Given the description of an element on the screen output the (x, y) to click on. 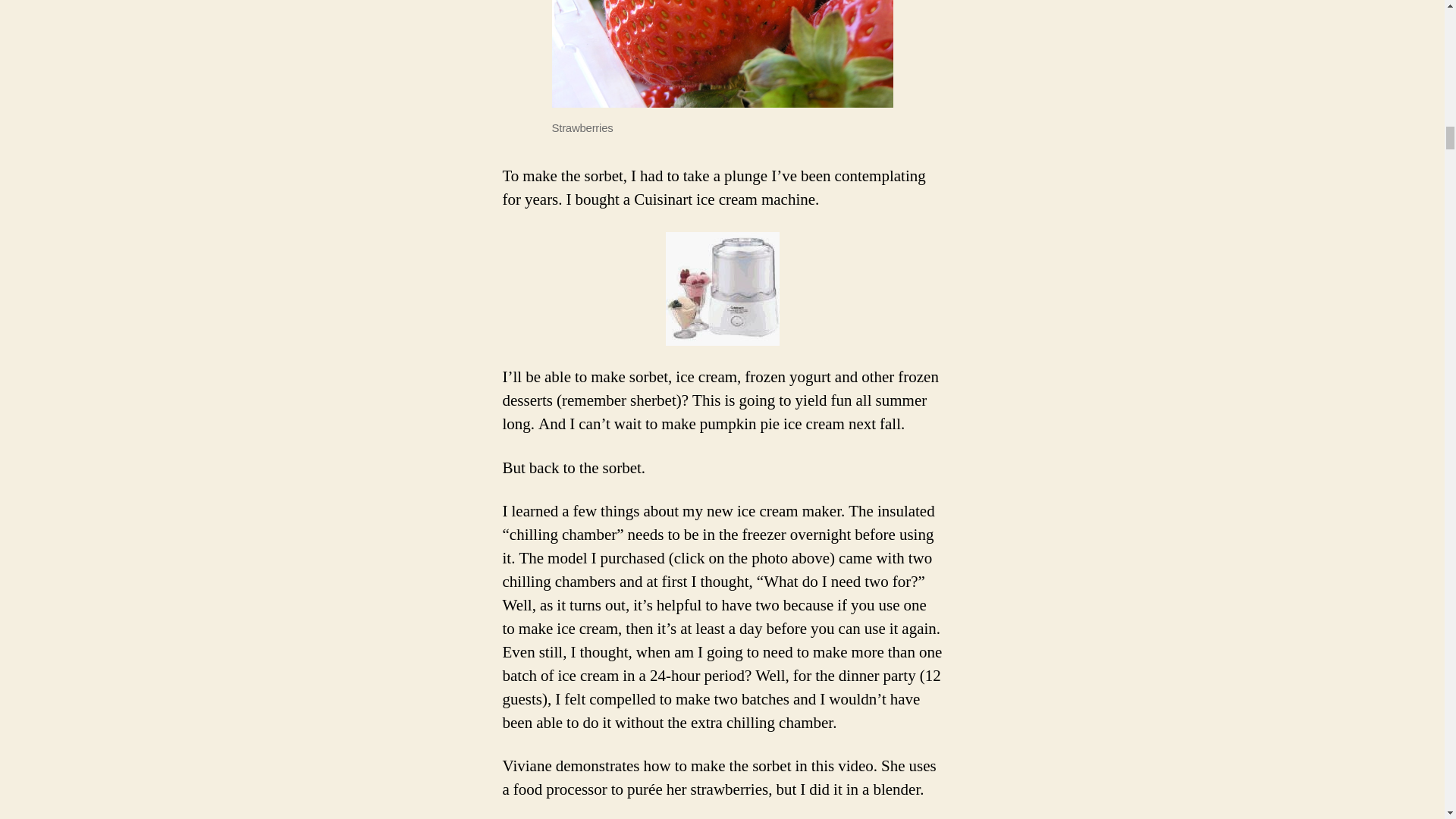
P8053469 (722, 53)
